Given the description of an element on the screen output the (x, y) to click on. 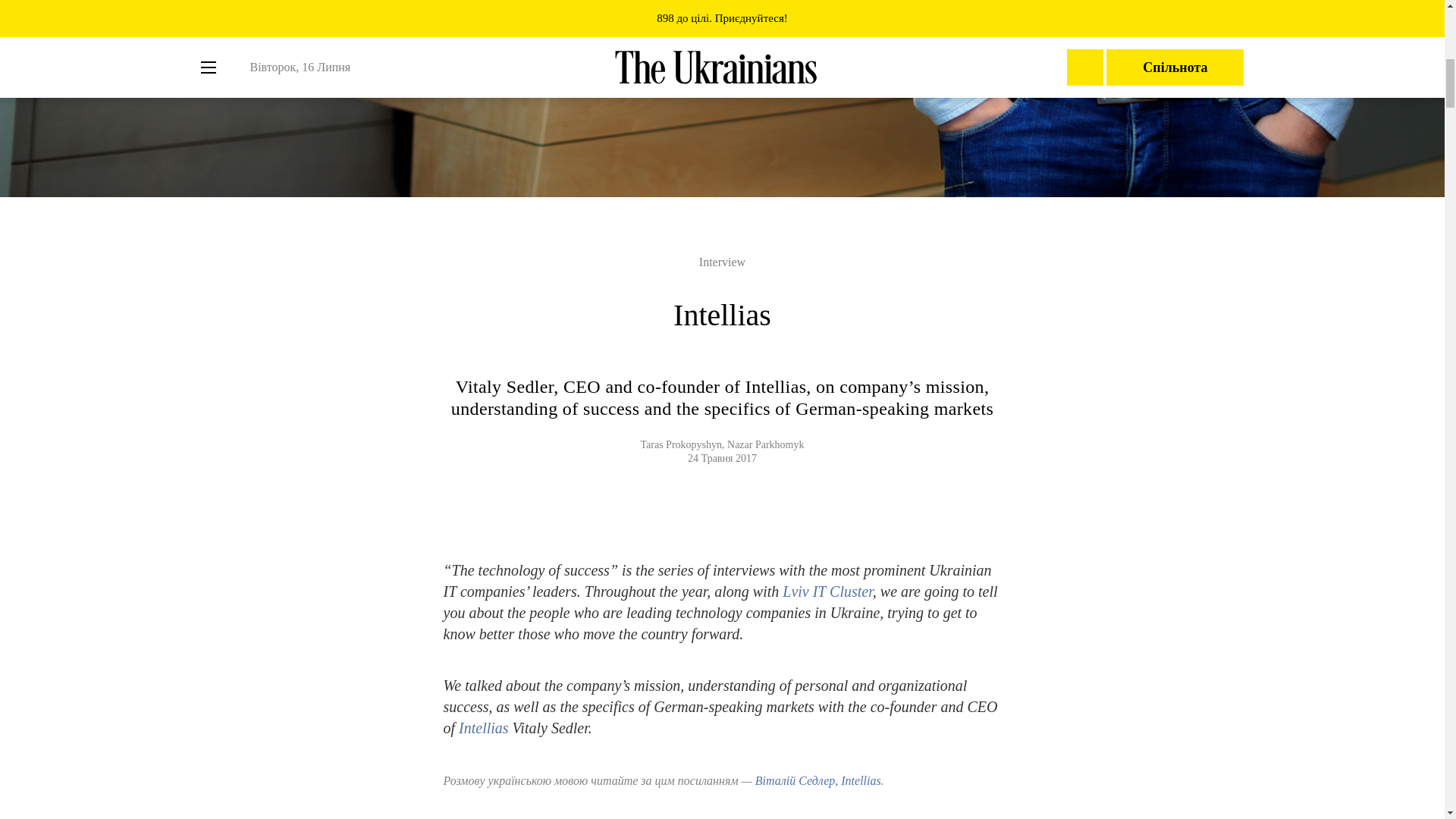
Lviv IT Cluster (827, 591)
Taras Prokopyshyn (681, 444)
Intellias (485, 727)
Interview (721, 261)
Nazar Parkhomyk (764, 444)
